Given the description of an element on the screen output the (x, y) to click on. 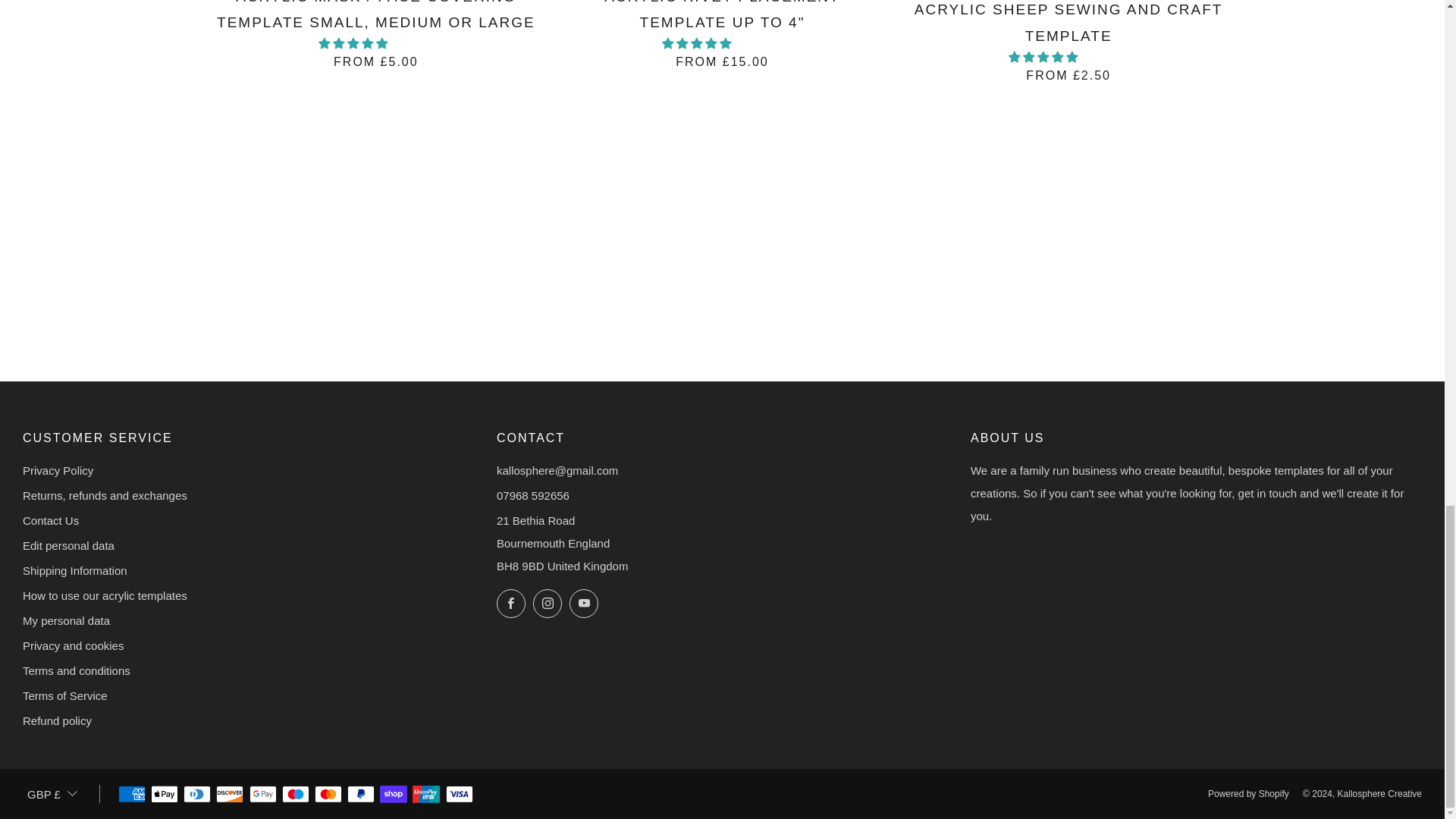
ACRYLIC SHEEP SEWING AND CRAFT TEMPLATE (1068, 40)
ACRYLIC RIVET PLACEMENT TEMPLATE UP TO 4 (721, 33)
